Given the description of an element on the screen output the (x, y) to click on. 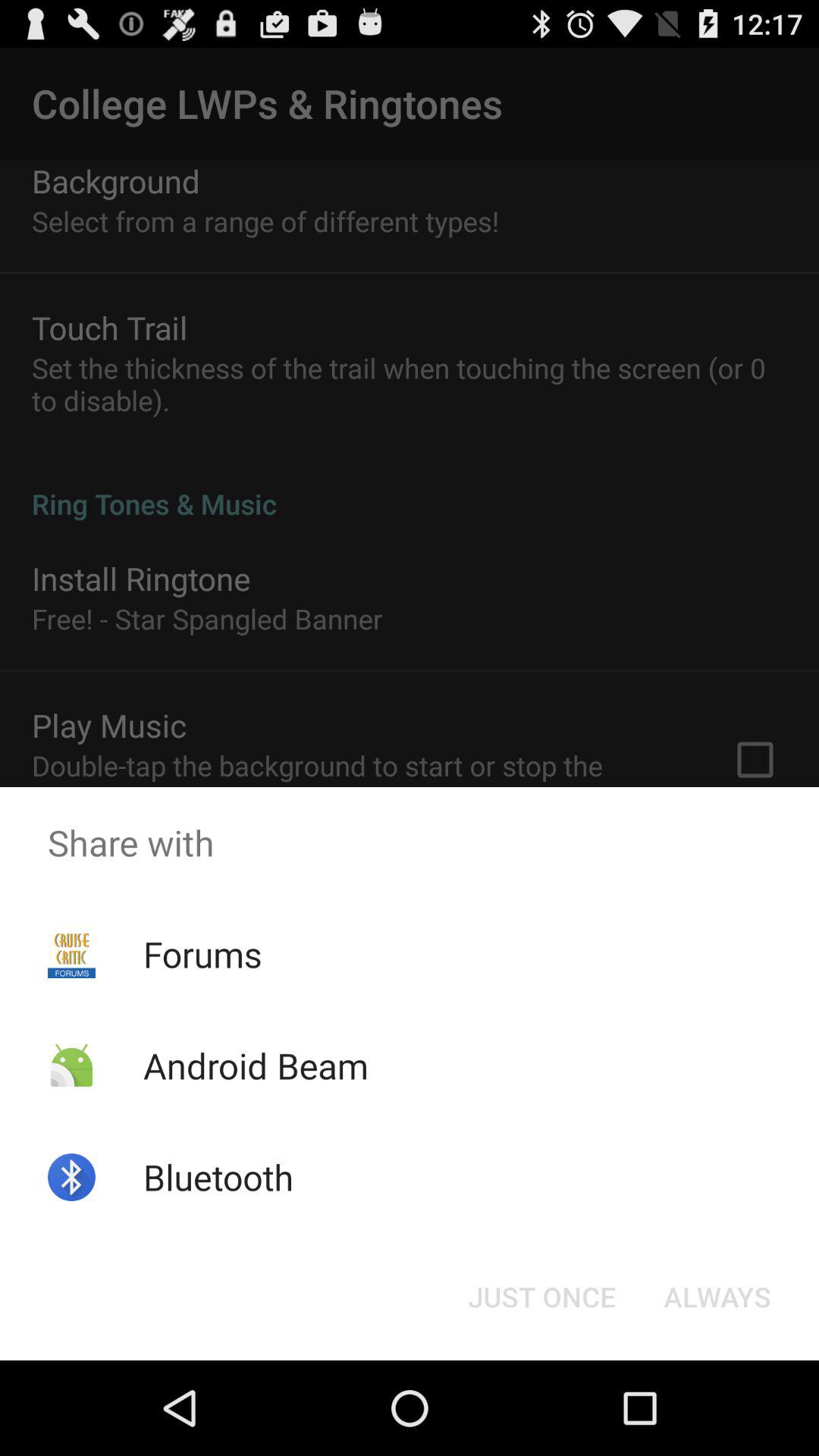
jump to the just once icon (541, 1296)
